Given the description of an element on the screen output the (x, y) to click on. 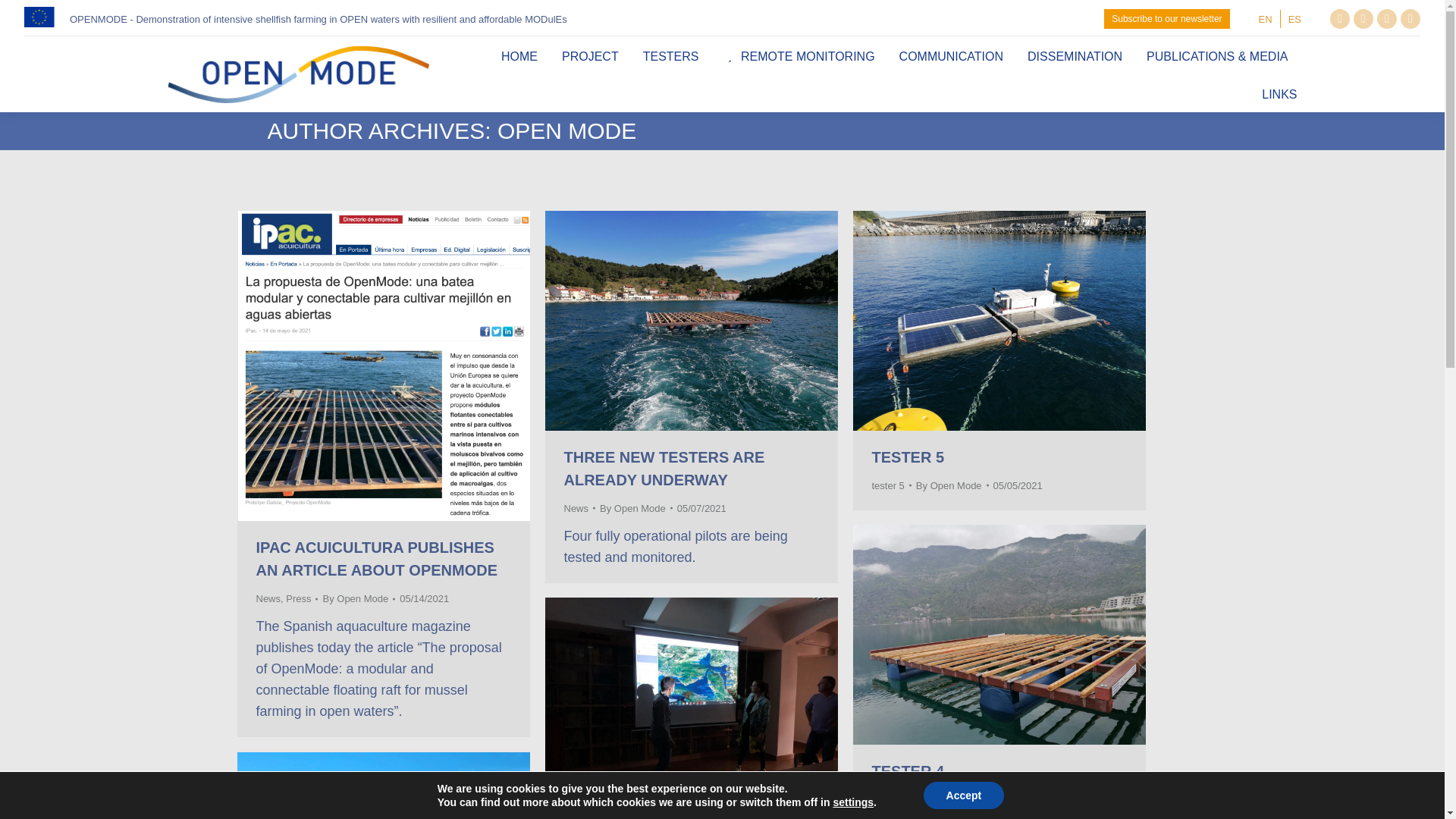
Linkedin page opens in new window (1363, 18)
Subscribe to our newsletter (1165, 19)
EN (1264, 18)
Facebook page opens in new window (1410, 18)
TESTERS (670, 54)
COMMUNICATION (951, 54)
REMOTE MONITORING (798, 54)
Linkedin page opens in new window (1363, 18)
DISSEMINATION (1075, 54)
YouTube page opens in new window (1386, 18)
Twitter page opens in new window (1339, 18)
ES (1294, 18)
Open Mode (566, 130)
Facebook page opens in new window (1410, 18)
YouTube page opens in new window (1386, 18)
